Given the description of an element on the screen output the (x, y) to click on. 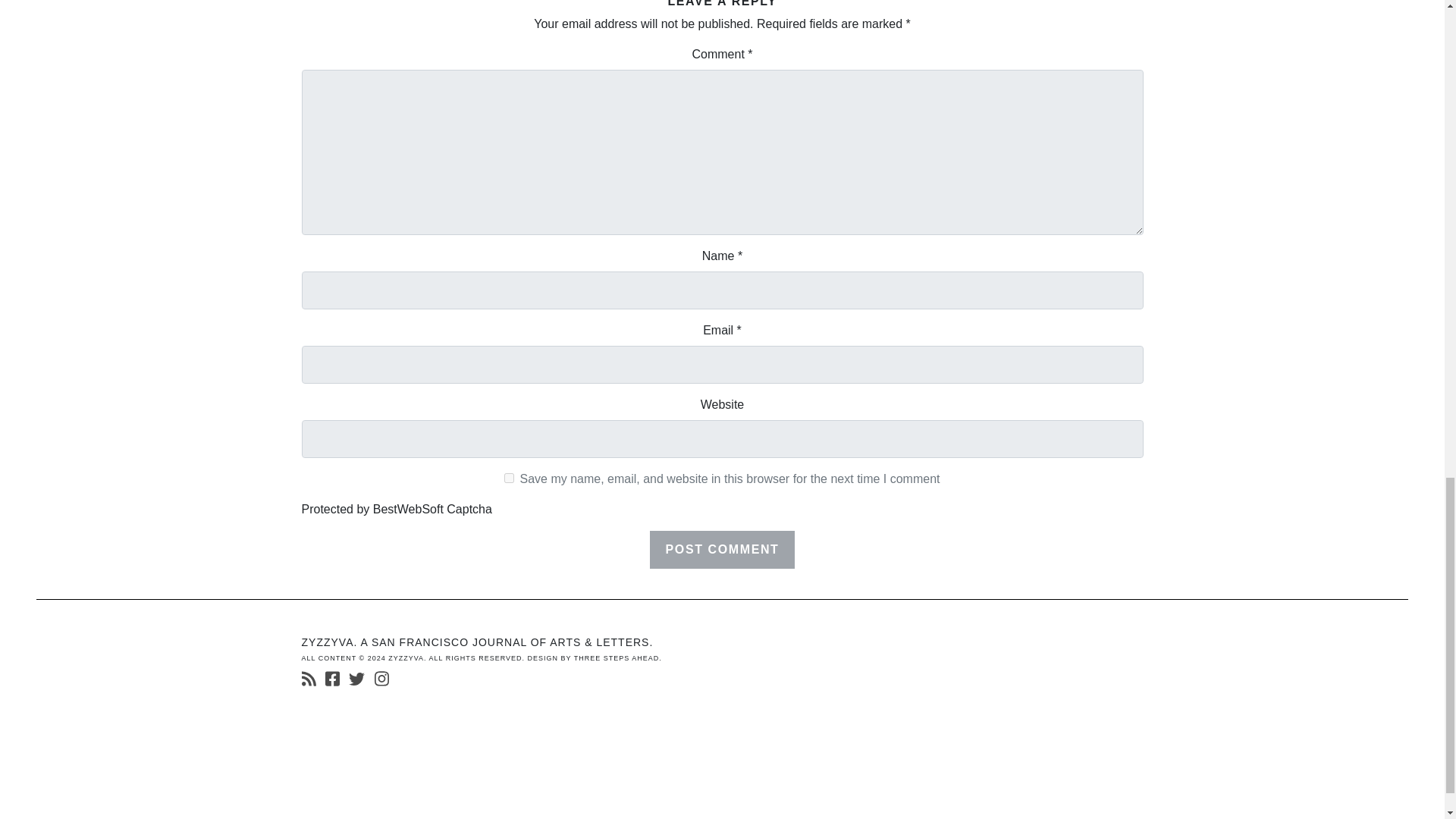
yes (508, 478)
Post Comment (721, 549)
